Given the description of an element on the screen output the (x, y) to click on. 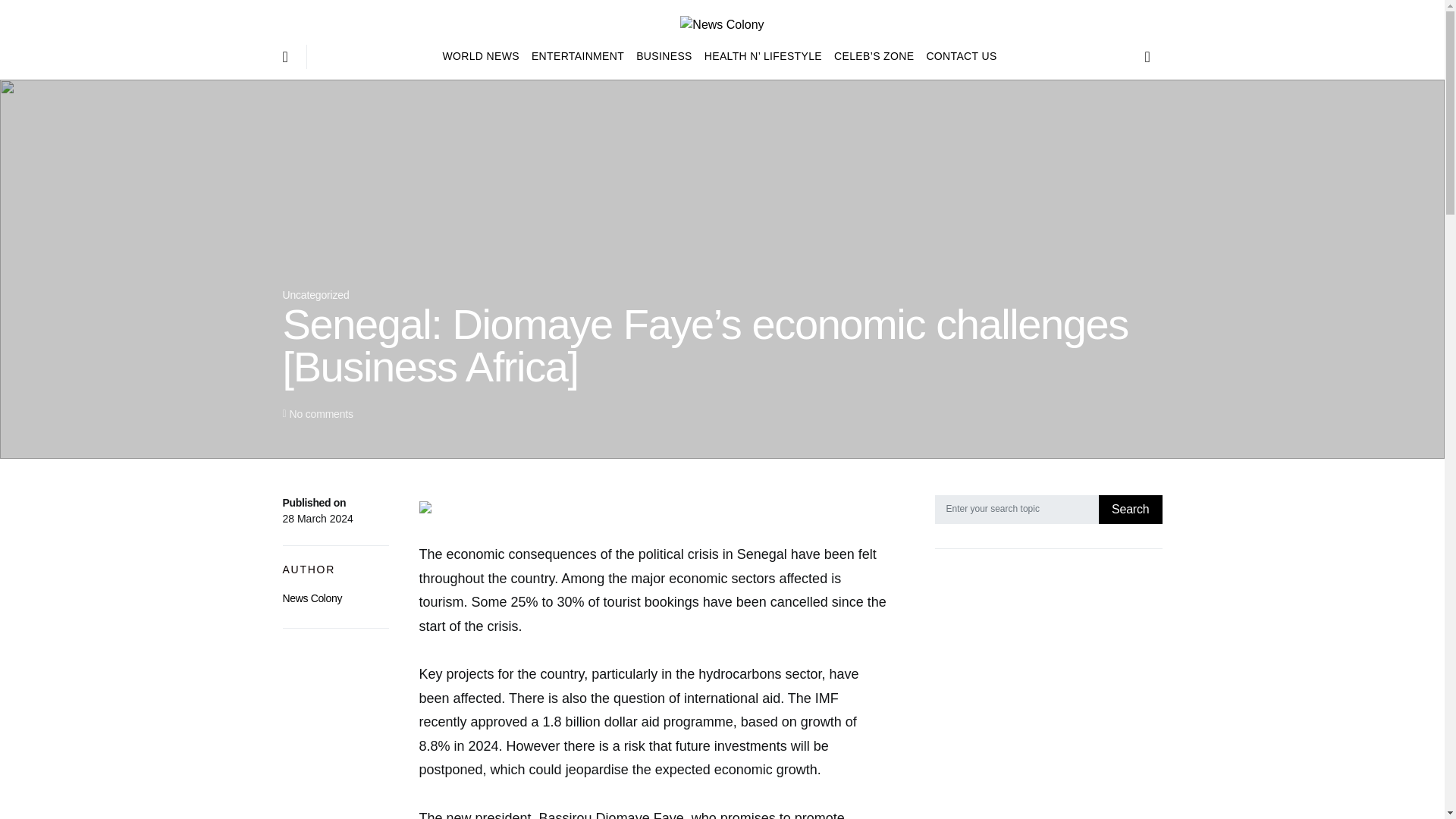
BUSINESS (664, 56)
WORLD NEWS (483, 56)
No comments (320, 414)
ENTERTAINMENT (577, 56)
CONTACT US (957, 56)
News Colony (312, 598)
